Given the description of an element on the screen output the (x, y) to click on. 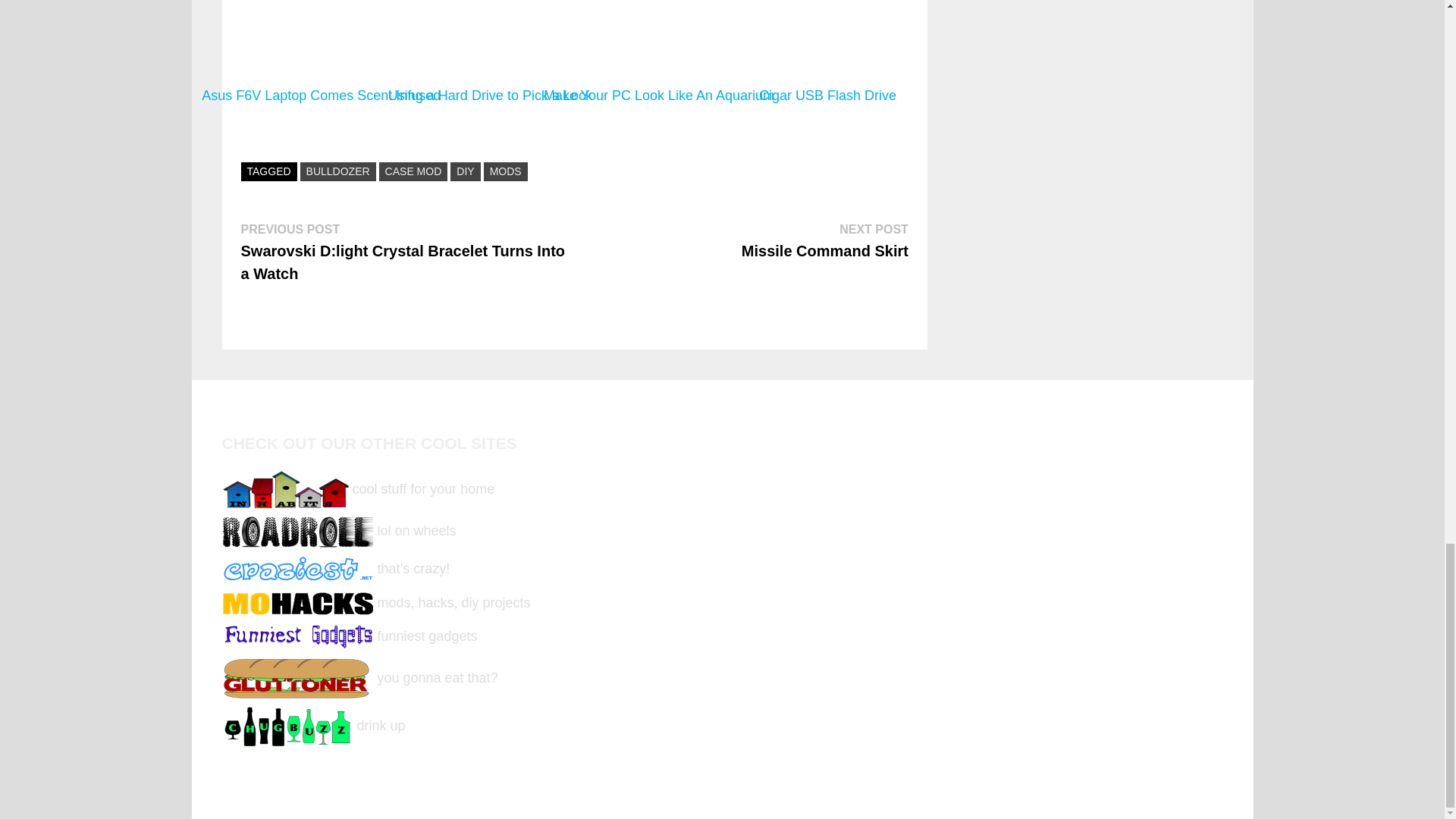
Asus F6V Laptop Comes Scent Infused (320, 54)
CASE MOD (413, 171)
MODS (505, 171)
Using a Hard Drive to Pick a Lock (490, 54)
BULLDOZER (337, 171)
DIY (464, 171)
Make Your PC Look Like An Aquarium (658, 54)
Cigar USB Flash Drive (827, 54)
